Given the description of an element on the screen output the (x, y) to click on. 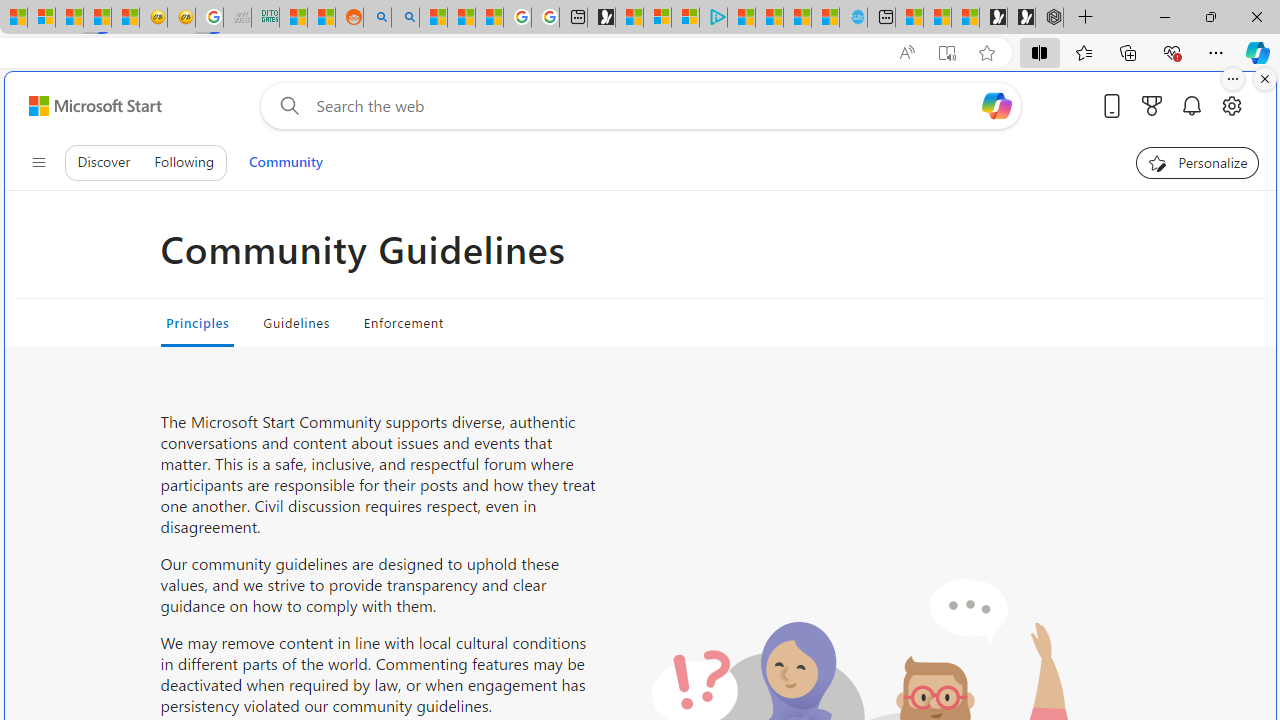
Skip to footer (82, 105)
Microsoft rewards (1151, 105)
Web search (285, 105)
Utah sues federal government - Search (404, 17)
More options. (1233, 79)
MSNBC - MSN (293, 17)
Play Free Online Games | Games from Microsoft Start (1021, 17)
Notifications (1192, 105)
